Given the description of an element on the screen output the (x, y) to click on. 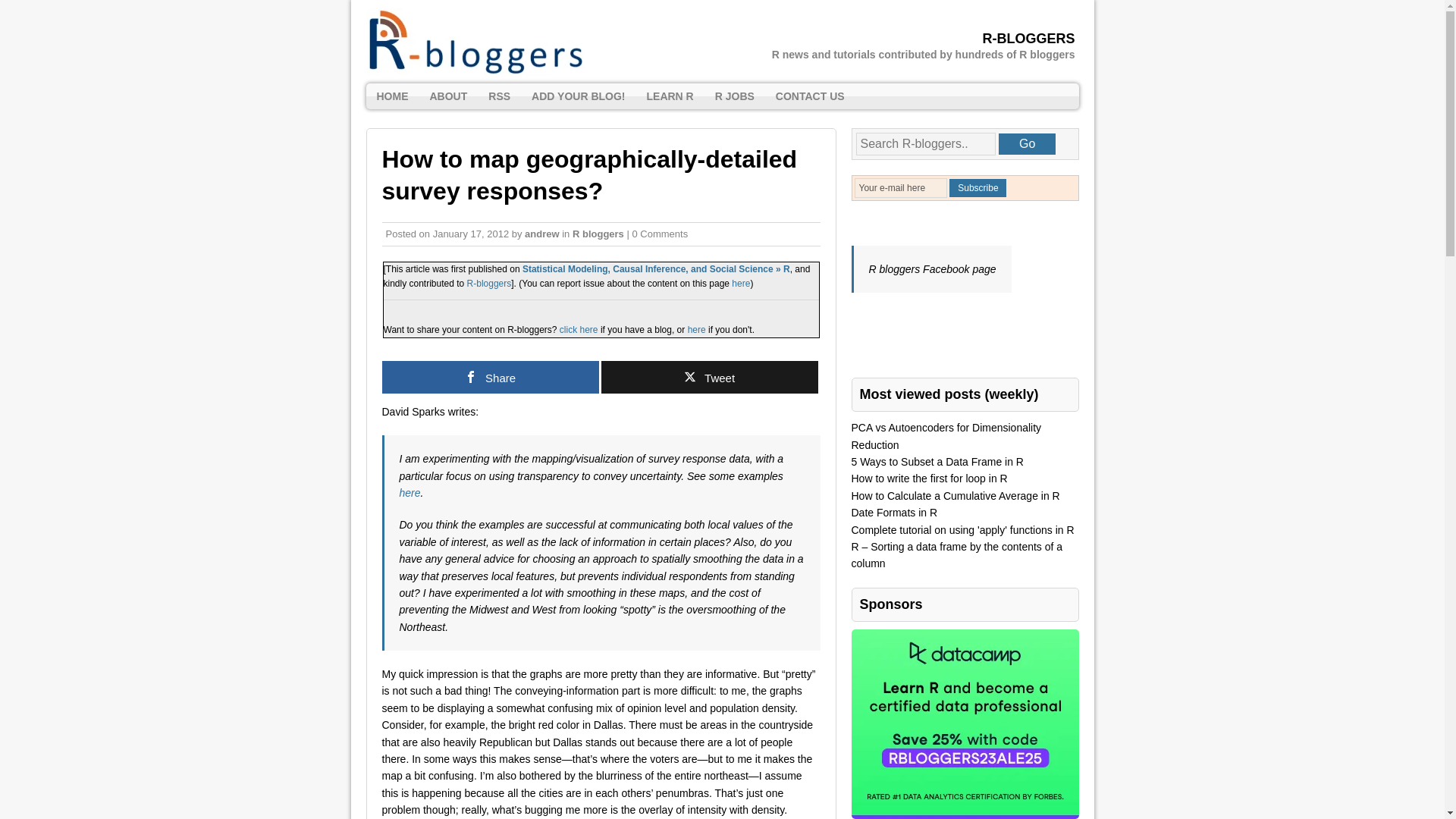
How to Calculate a Cumulative Average in R (954, 495)
PCA vs Autoencoders for Dimensionality Reduction (945, 435)
5 Ways to Subset a Data Frame in R (936, 461)
R-bloggers (721, 41)
RSS (499, 95)
here (409, 492)
here (696, 329)
click here (577, 329)
HOME (392, 95)
CONTACT US (810, 95)
R JOBS (734, 95)
Complete tutorial on using 'apply' functions in R (962, 530)
Tweet (707, 377)
R-bloggers (489, 283)
How to write the first for loop in R (928, 478)
